Given the description of an element on the screen output the (x, y) to click on. 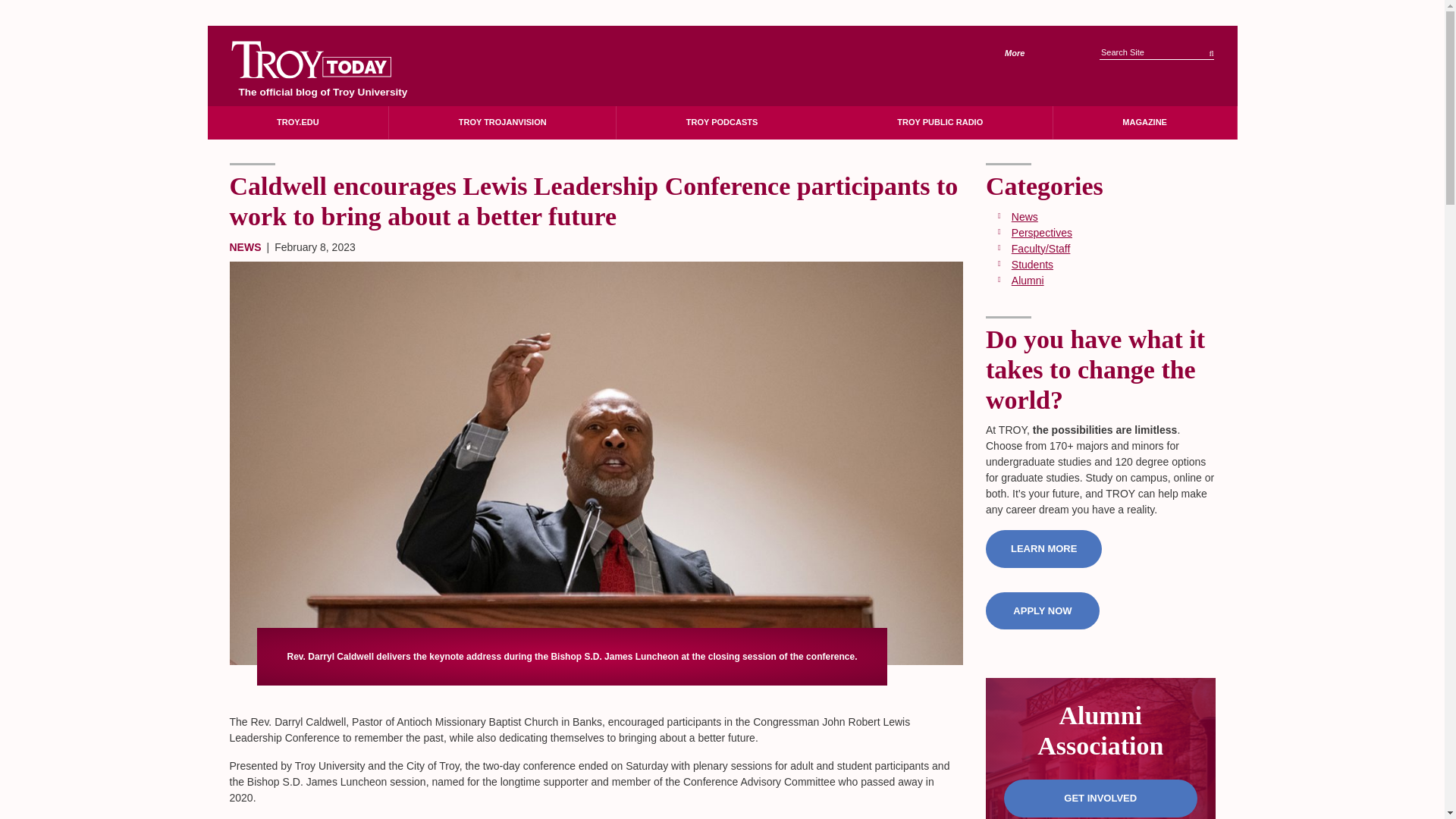
TROY TrojanVision (501, 122)
Troy.edu (298, 122)
More (1024, 53)
TROY TROJANVISION (501, 122)
TROY PODCASTS (721, 122)
TROY Podcasts (721, 122)
MAGAZINE (1144, 122)
TROY PUBLIC RADIO (940, 122)
NEWS (244, 246)
